Given the description of an element on the screen output the (x, y) to click on. 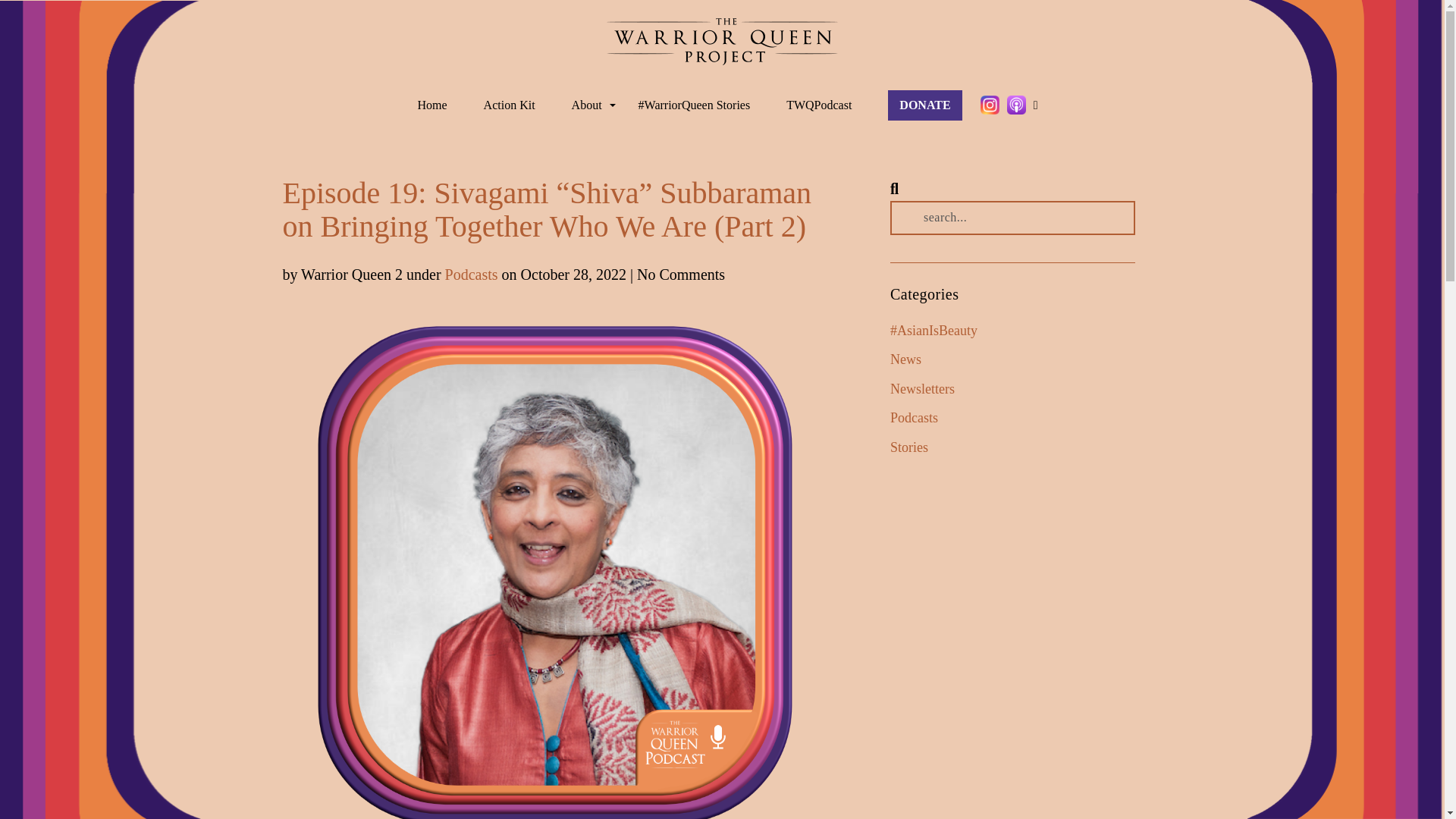
DONATE (924, 105)
About (587, 105)
Search... (1012, 217)
Action Kit (509, 105)
Home (431, 105)
Search... (1012, 217)
TWQPodcast (818, 105)
